Given the description of an element on the screen output the (x, y) to click on. 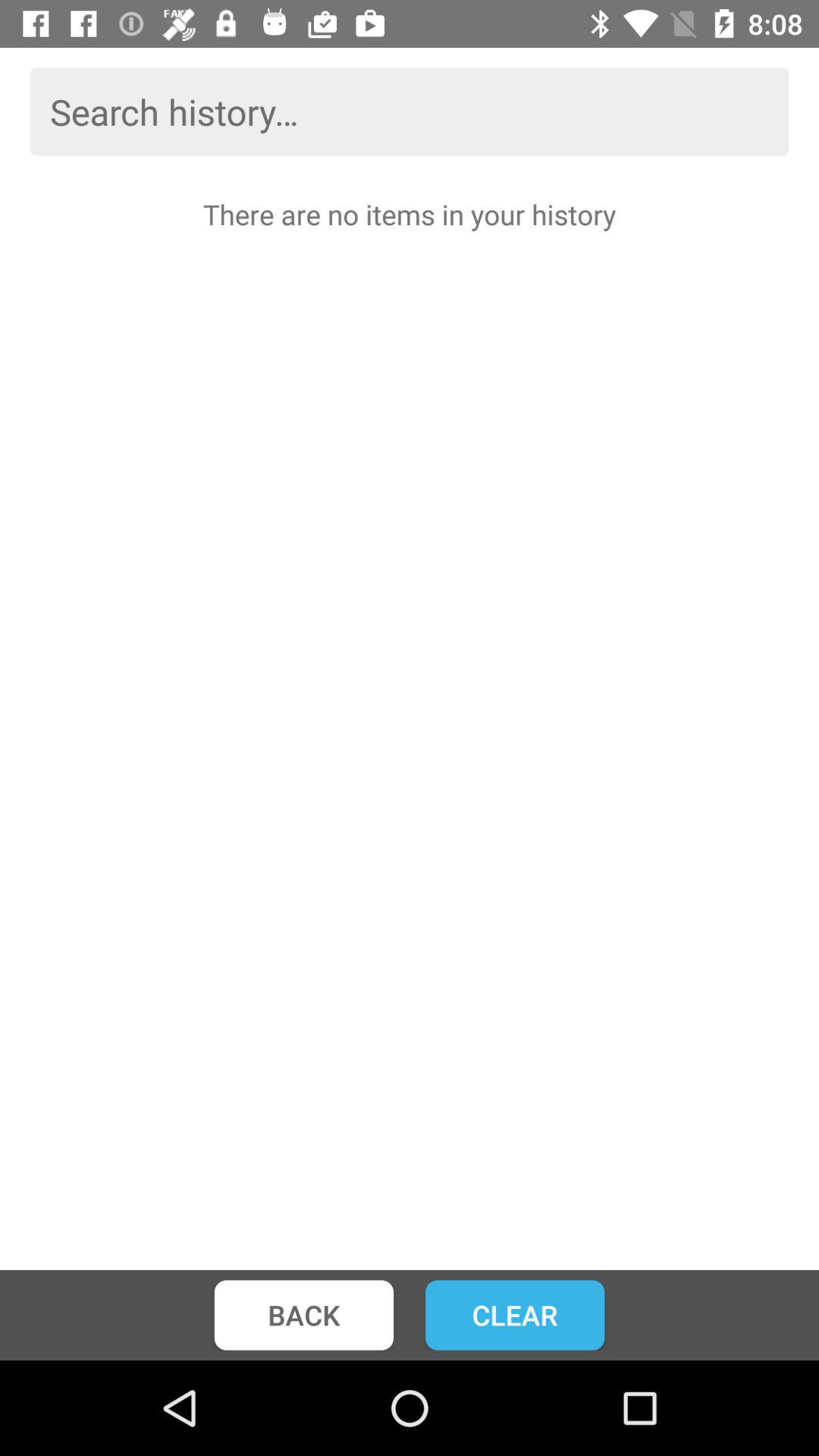
press back icon (303, 1315)
